Given the description of an element on the screen output the (x, y) to click on. 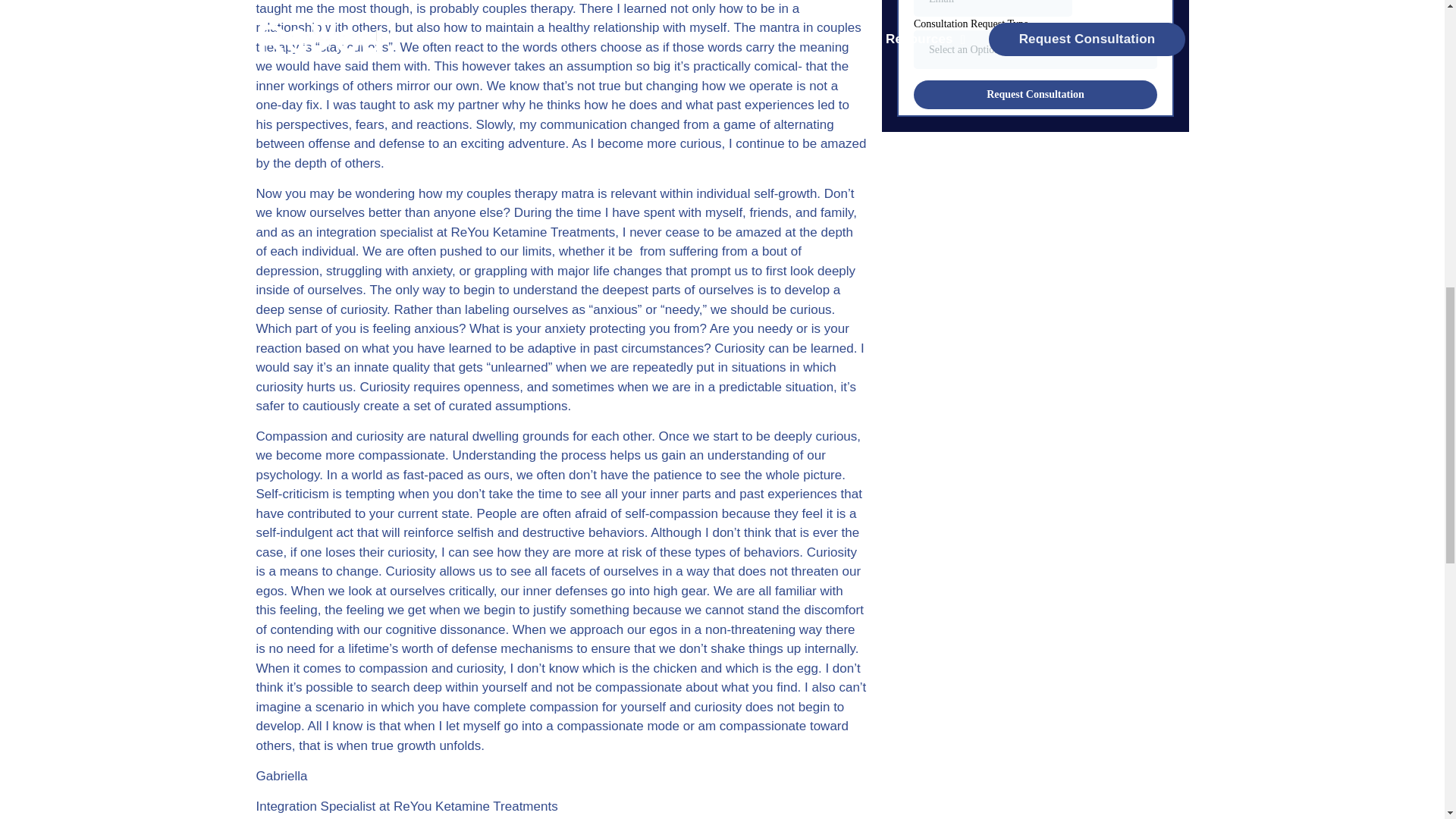
Website Consultation Form - Sidebar (1035, 54)
